Given the description of an element on the screen output the (x, y) to click on. 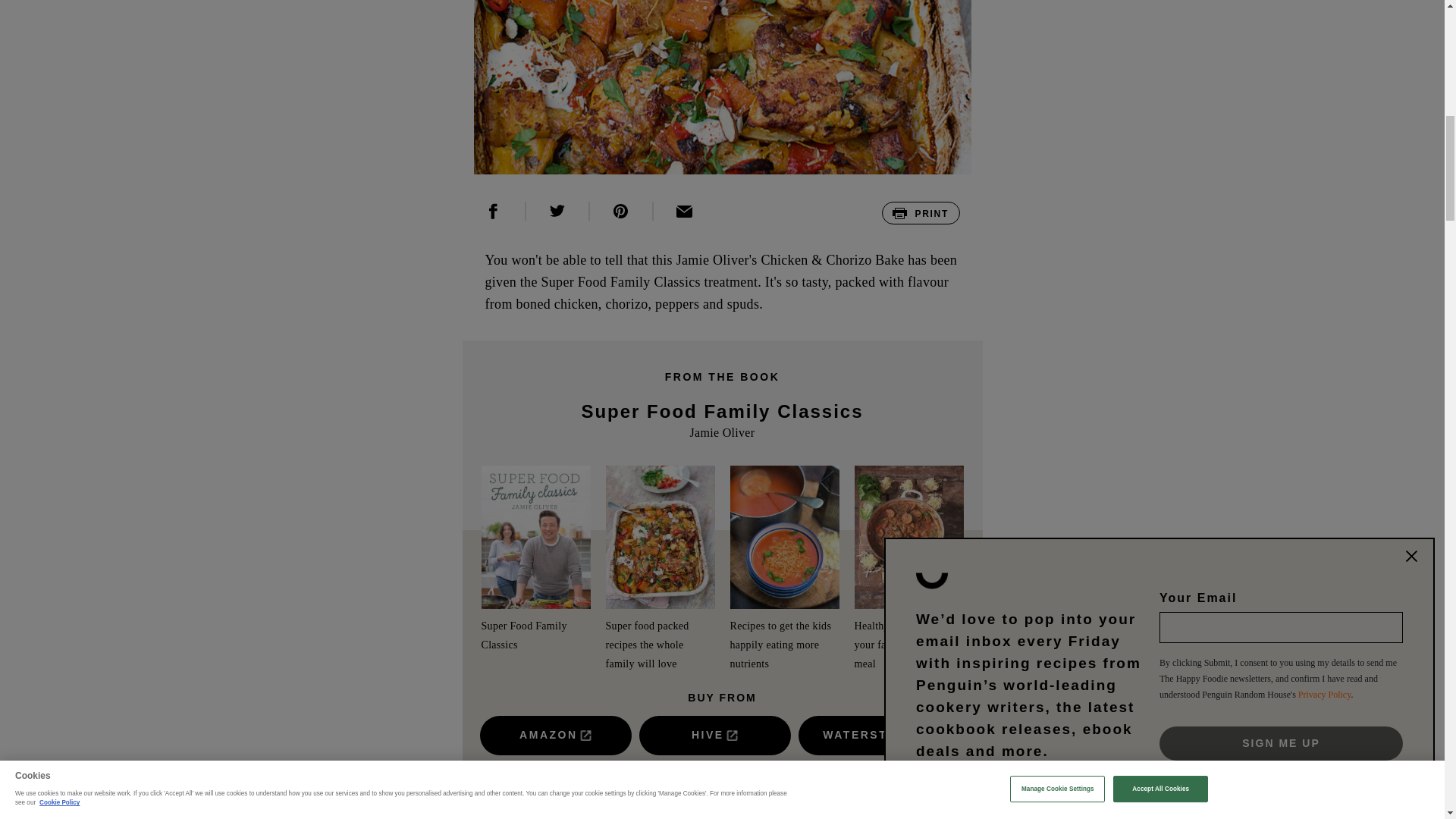
Share by Email (684, 210)
